Given the description of an element on the screen output the (x, y) to click on. 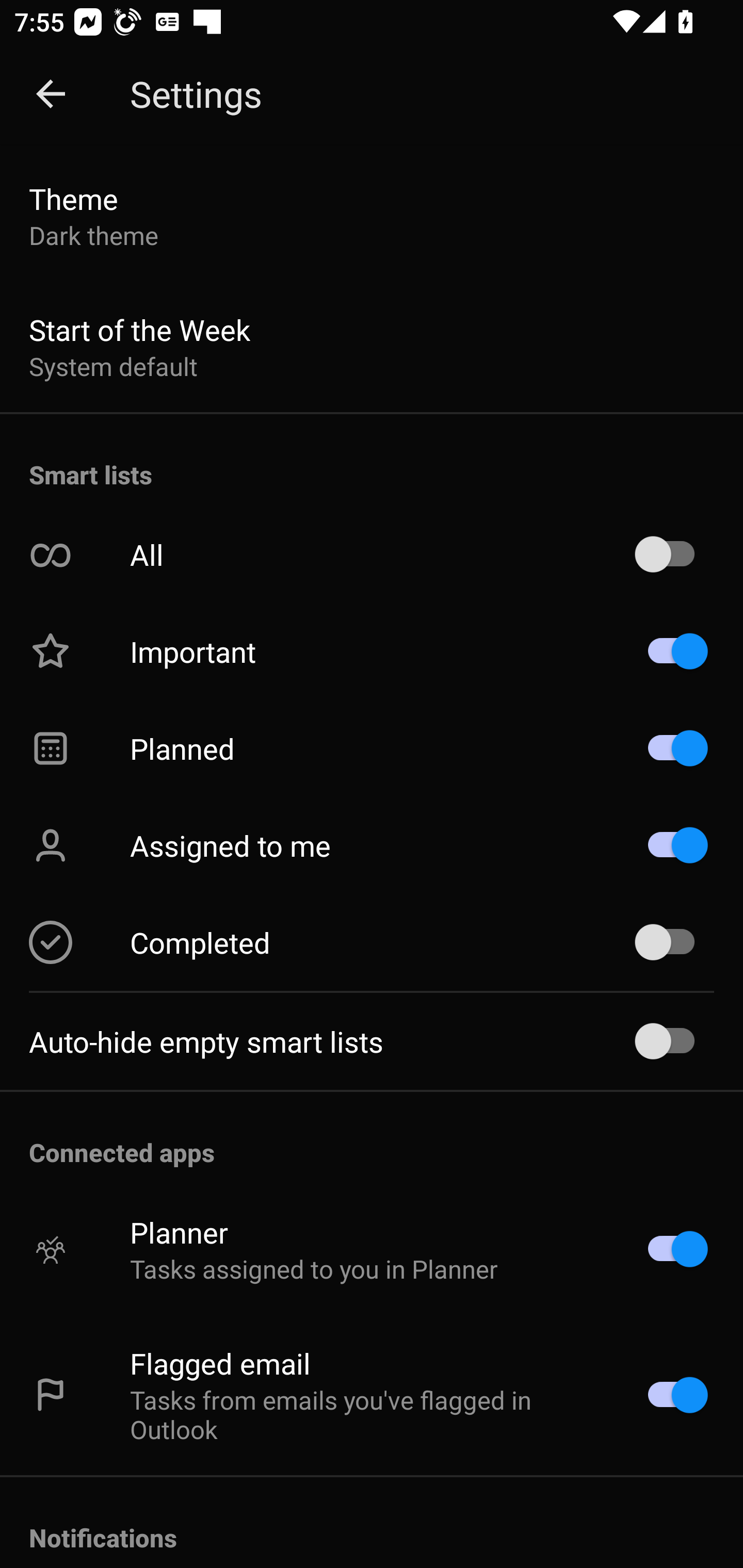
Navigate up (50, 93)
Theme Dark theme (371, 215)
Start of the Week System default (371, 346)
All (371, 554)
Important (371, 651)
Planned (371, 747)
Assigned to me (371, 844)
Completed (371, 941)
Auto-hide empty smart lists (371, 1040)
Planner Tasks assigned to you in Planner (371, 1248)
